Given the description of an element on the screen output the (x, y) to click on. 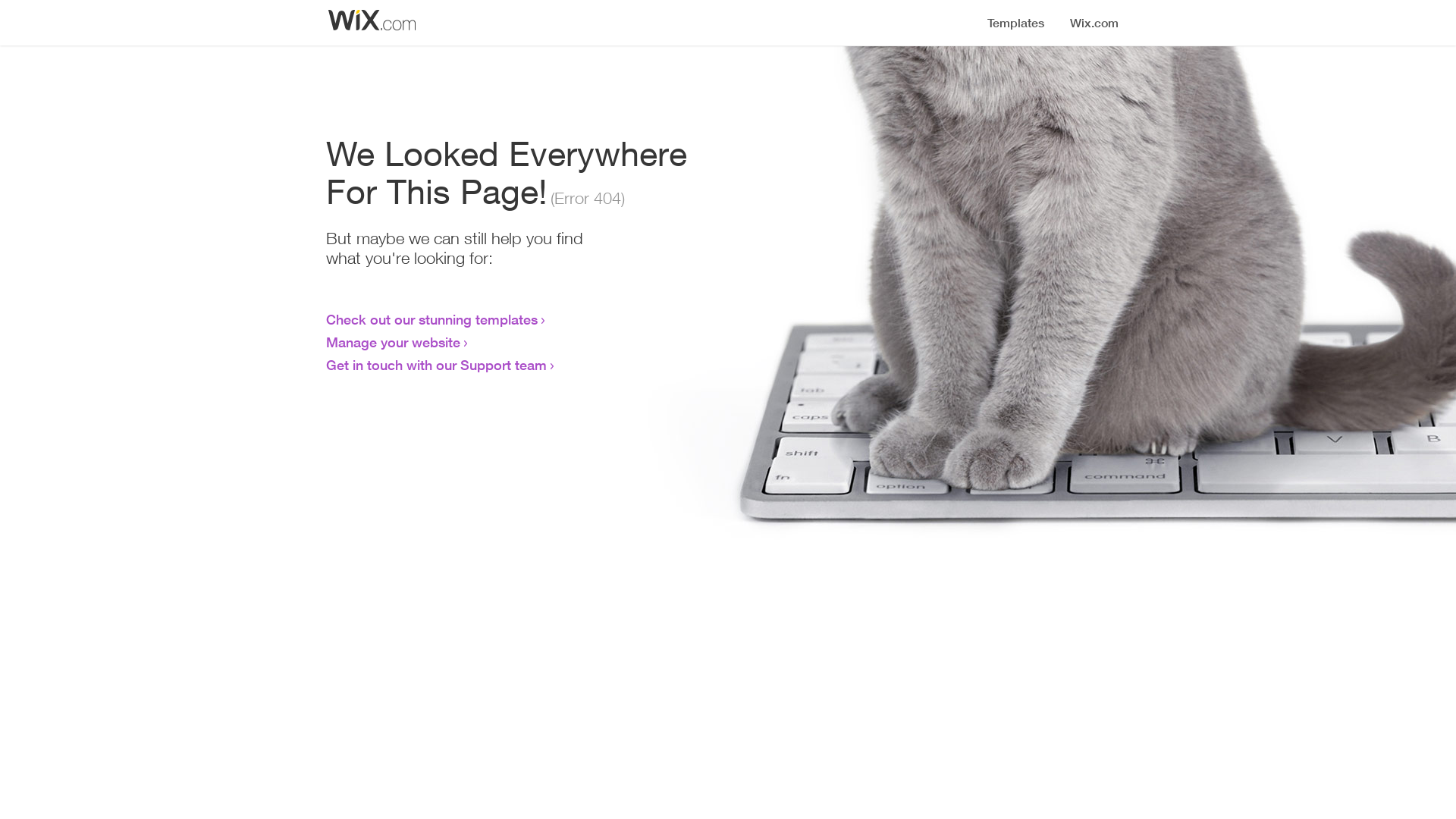
Manage your website Element type: text (393, 341)
Get in touch with our Support team Element type: text (436, 364)
Check out our stunning templates Element type: text (431, 318)
